Given the description of an element on the screen output the (x, y) to click on. 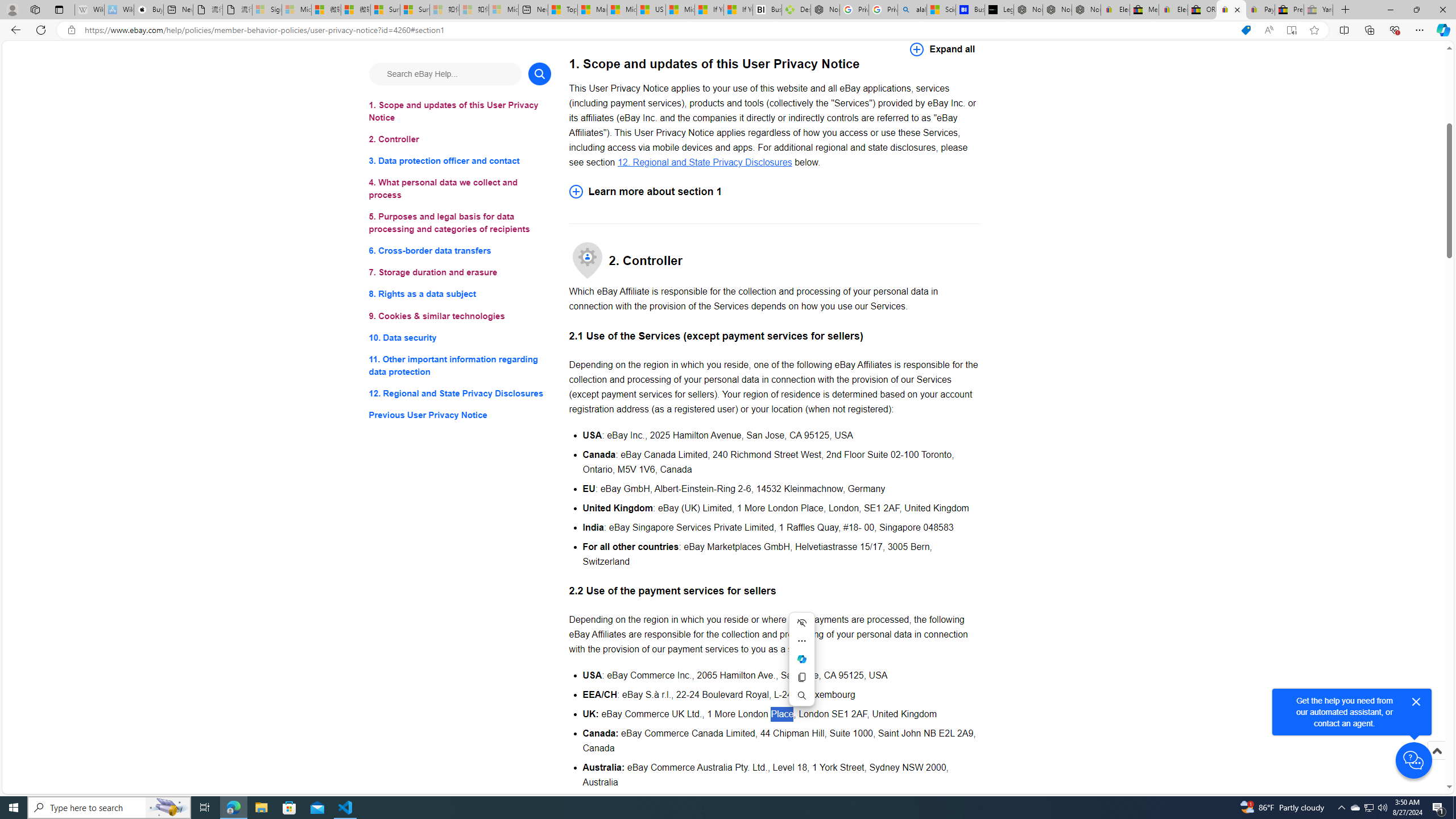
4. What personal data we collect and process (459, 189)
8. Rights as a data subject (459, 293)
User Privacy Notice | eBay (1230, 9)
Press Room - eBay Inc. (1288, 9)
Marine life - MSN (591, 9)
Scroll to top (1435, 762)
6. Cross-border data transfers (459, 250)
10. Data security (459, 336)
